Given the description of an element on the screen output the (x, y) to click on. 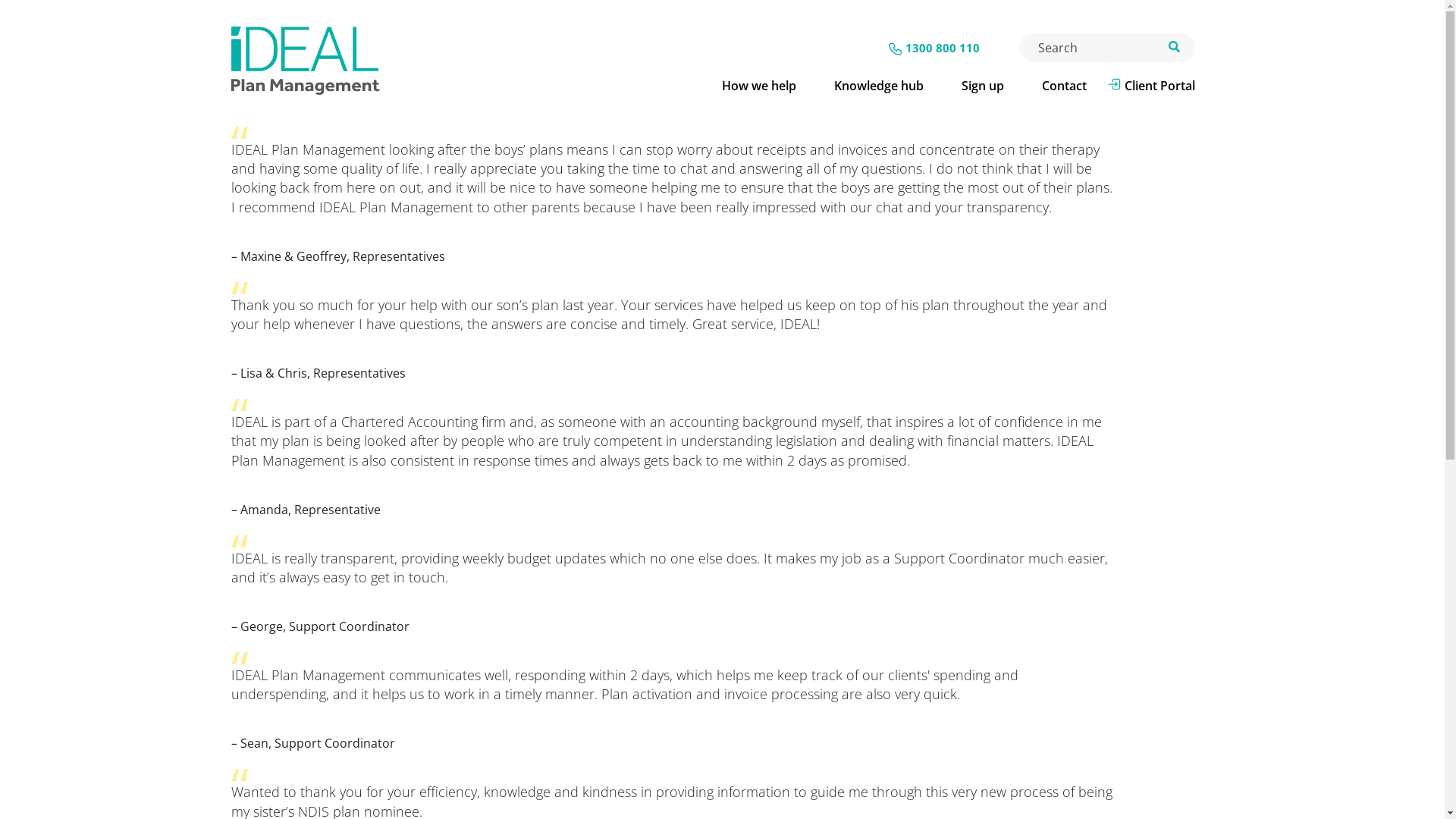
1300 800 110 Element type: text (942, 47)
Knowledge hub Element type: text (877, 85)
Search Element type: text (88, 21)
Client Portal Element type: text (1159, 85)
Sign up Element type: text (981, 85)
How we help Element type: text (758, 85)
Enter the terms you wish to search for. Element type: hover (1107, 47)
Contact Element type: text (1063, 85)
Home Element type: hover (346, 60)
